Given the description of an element on the screen output the (x, y) to click on. 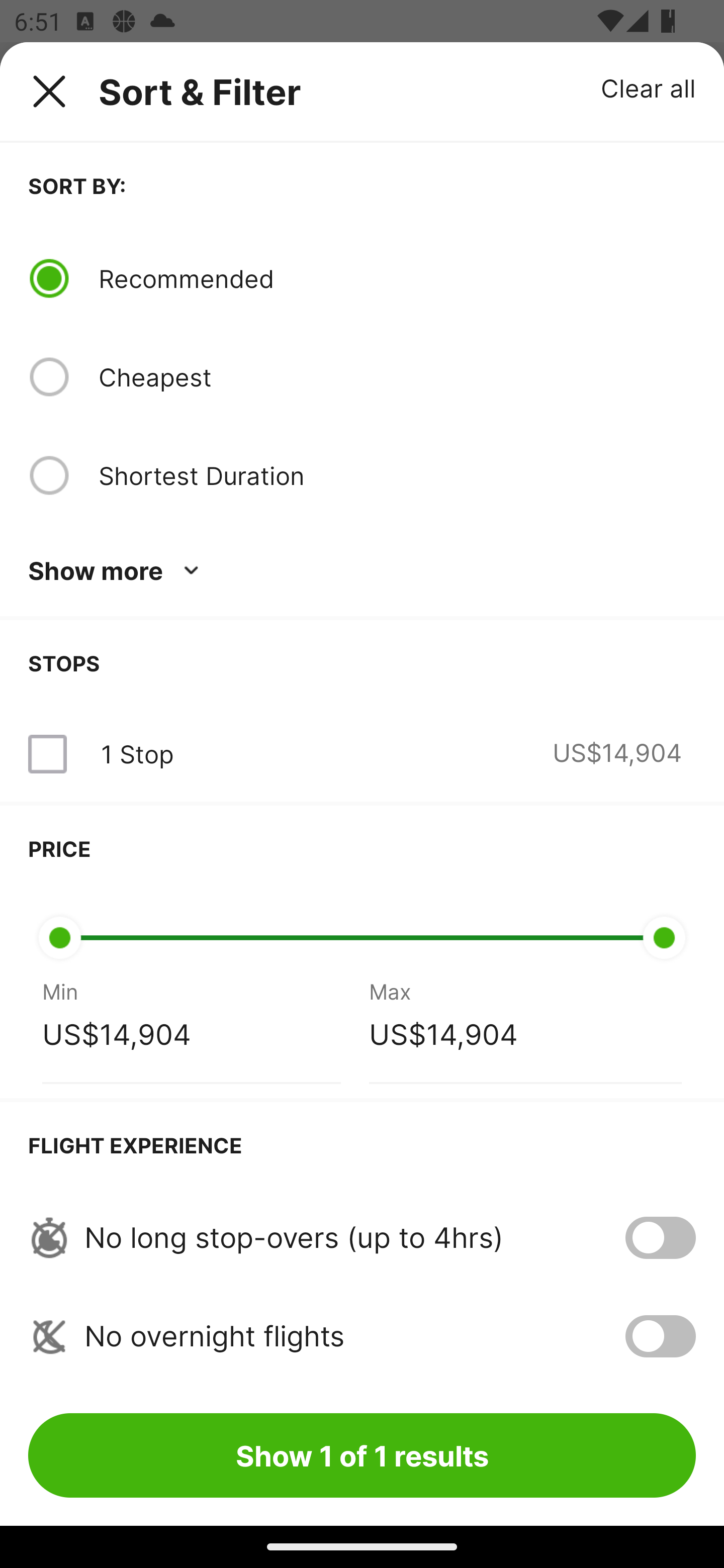
Clear all (648, 87)
Recommended  (396, 278)
Cheapest (396, 377)
Shortest Duration (396, 474)
Show more (116, 570)
1 Stop US$14,904 (362, 754)
1 Stop (136, 753)
Show 1 of 1 results (361, 1454)
